Given the description of an element on the screen output the (x, y) to click on. 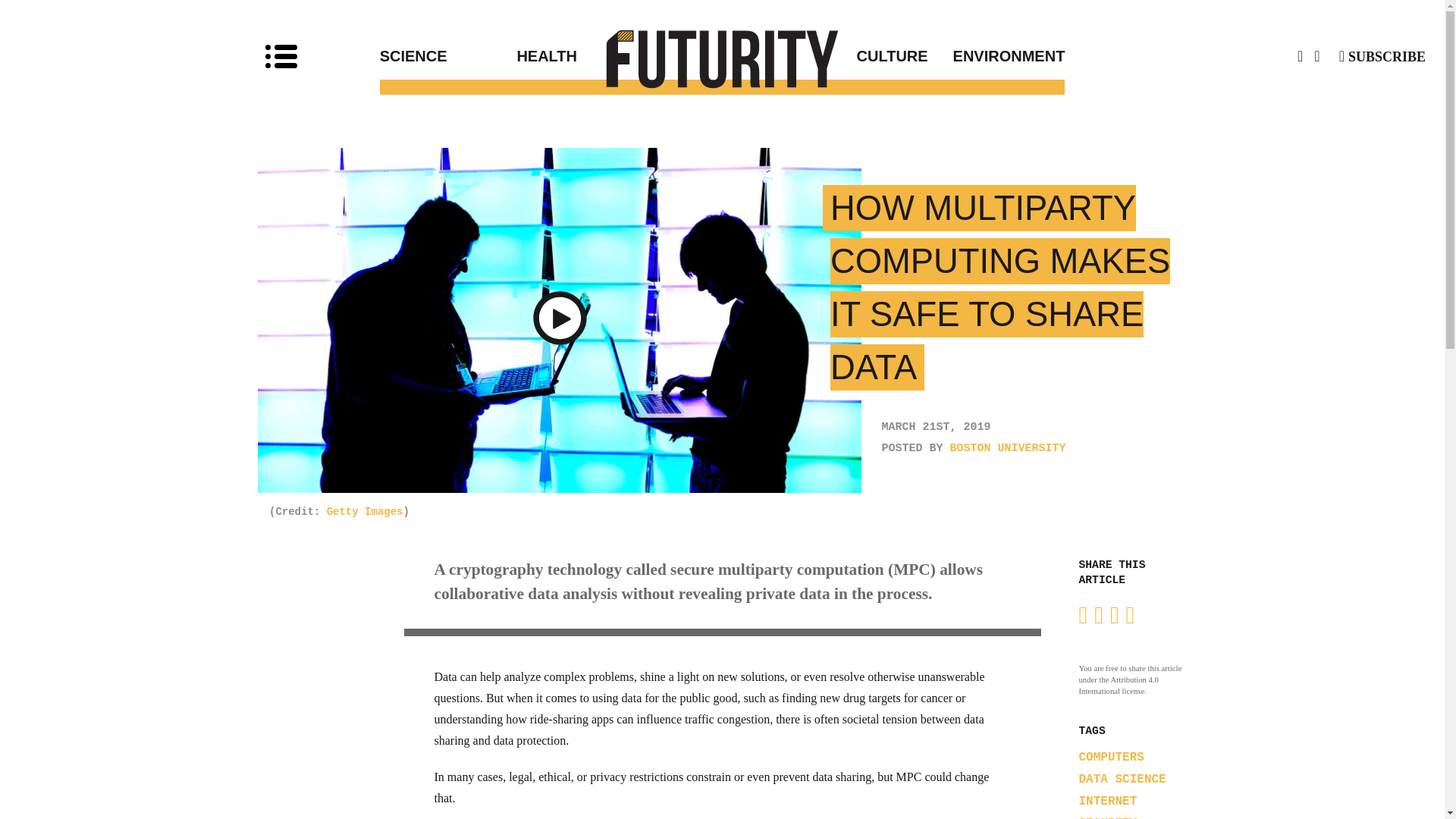
Play Video (559, 320)
HEALTH (619, 55)
SECURITY (1107, 817)
Health (619, 55)
DATA SCIENCE (1122, 779)
Culture (824, 55)
Research news from top universities (722, 58)
Getty Images (364, 511)
INTERNET (1107, 801)
SUBSCRIBE (1382, 56)
Science (448, 55)
ENVIRONMENT (996, 55)
Play Video (559, 320)
BOSTON UNIVERSITY (1007, 448)
CULTURE (824, 55)
